Given the description of an element on the screen output the (x, y) to click on. 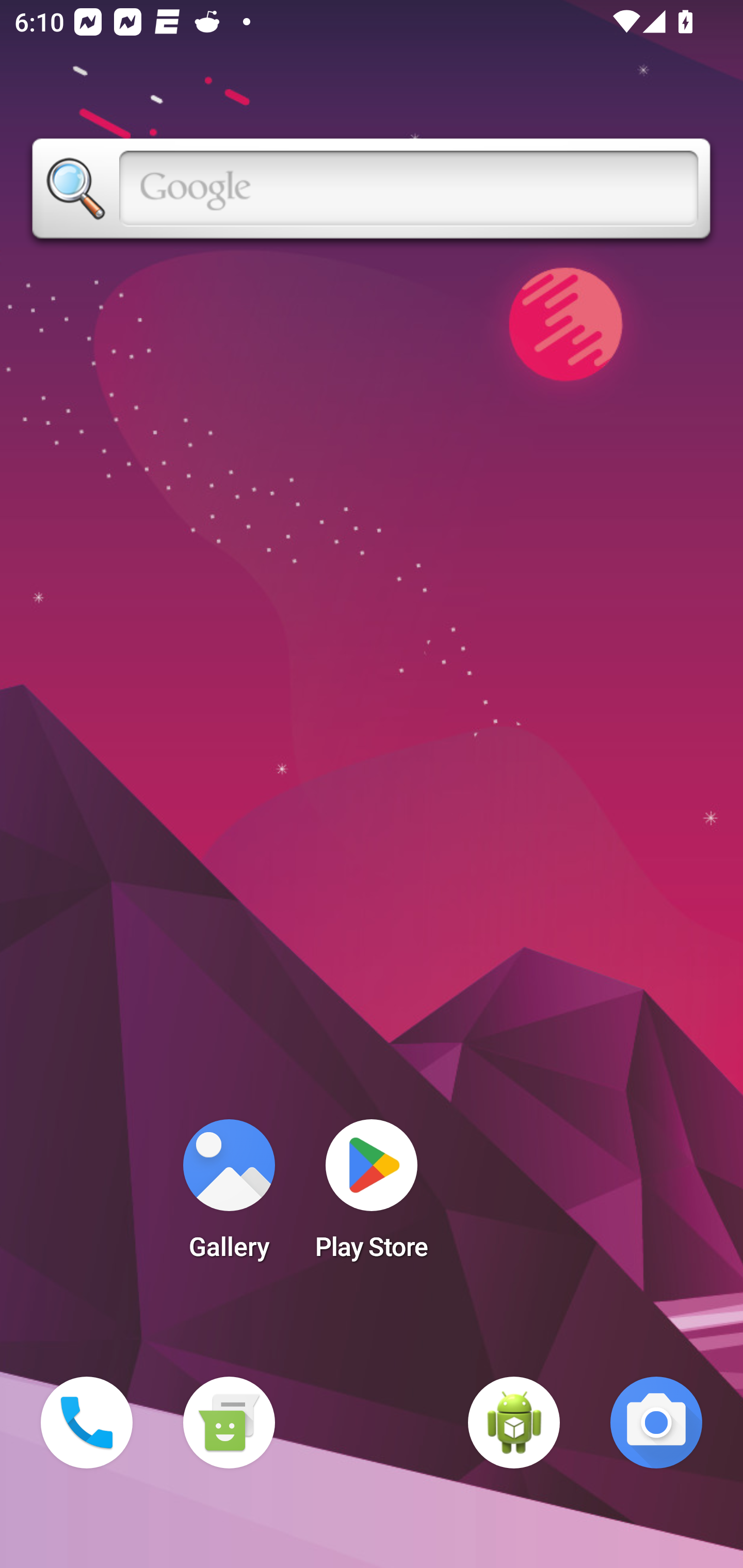
Gallery (228, 1195)
Play Store (371, 1195)
Phone (86, 1422)
Messaging (228, 1422)
WebView Browser Tester (513, 1422)
Camera (656, 1422)
